Given the description of an element on the screen output the (x, y) to click on. 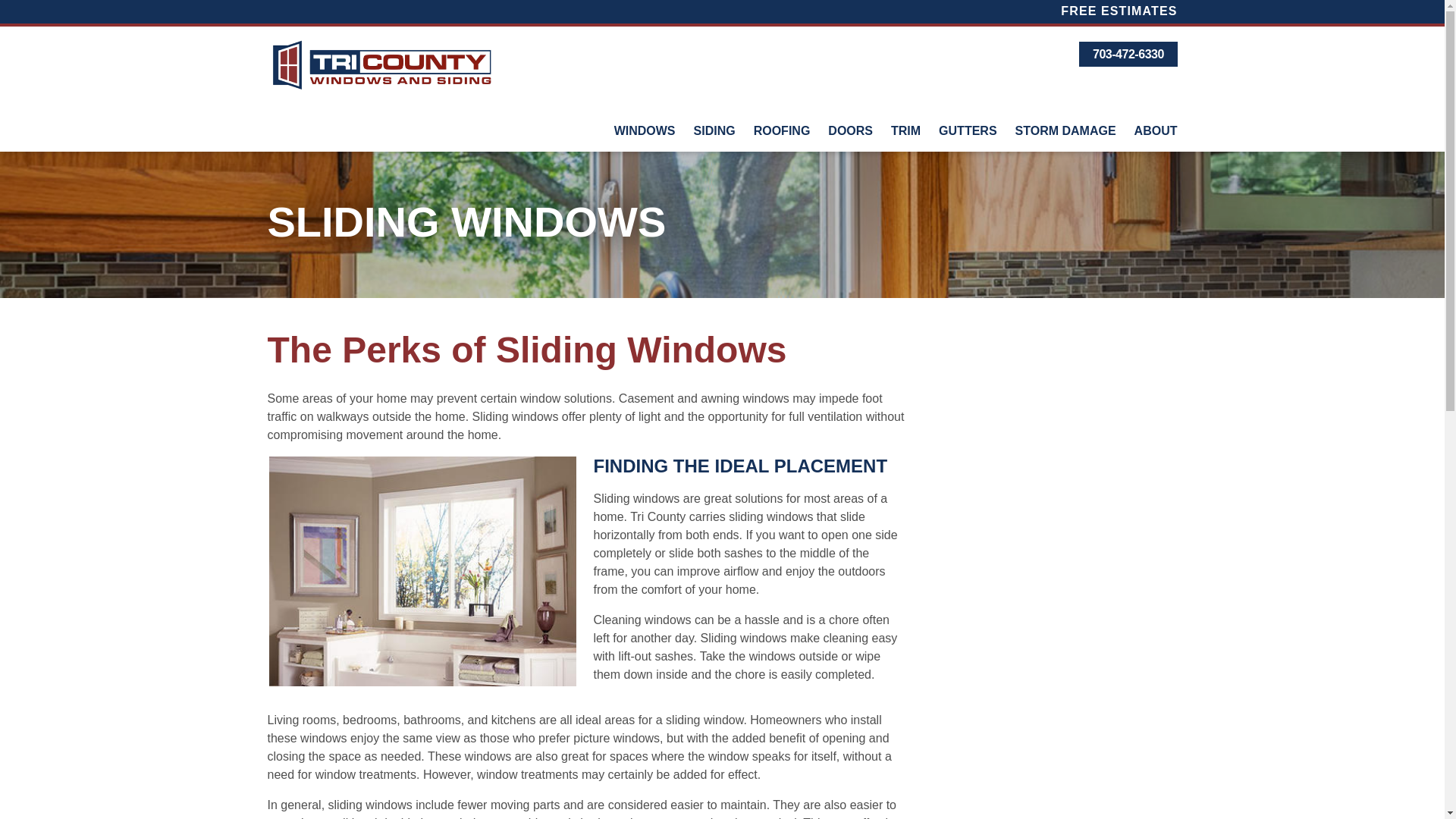
FREE ESTIMATES (1114, 10)
ROOFING (781, 130)
DOORS (850, 130)
Tri County Windows and Siding (380, 65)
SIDING (714, 130)
Tri County Windows and Siding (380, 65)
WINDOWS (644, 130)
